Given the description of an element on the screen output the (x, y) to click on. 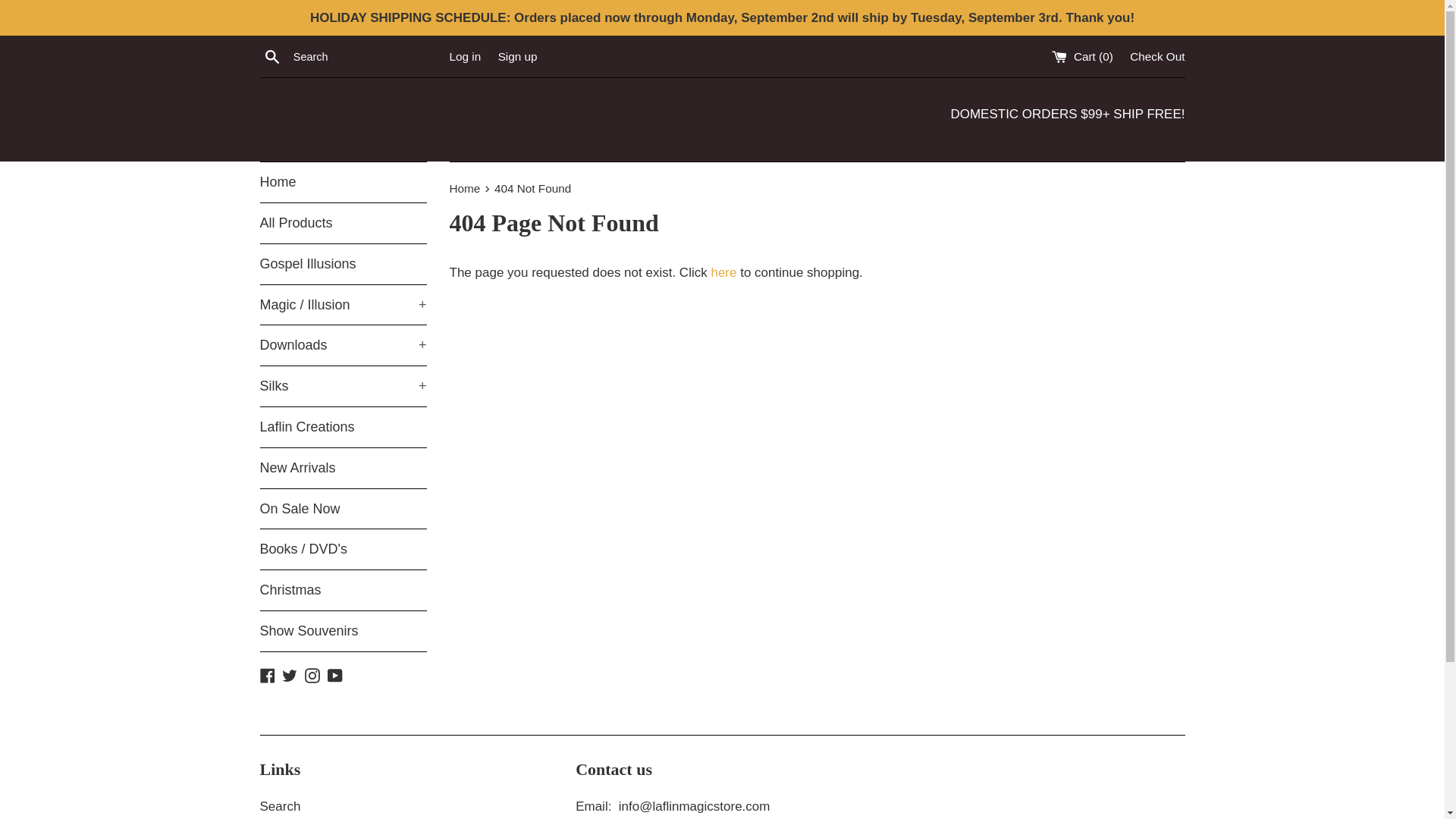
Laflin Creations (342, 427)
Facebook (267, 675)
Home (342, 182)
Back to the frontpage (465, 187)
Instagram (312, 675)
LaflinMagicStore on Instagram (312, 675)
New Arrivals (342, 467)
LaflinMagicStore on YouTube (334, 675)
Gospel Illusions (342, 264)
Sign up (517, 56)
